Given the description of an element on the screen output the (x, y) to click on. 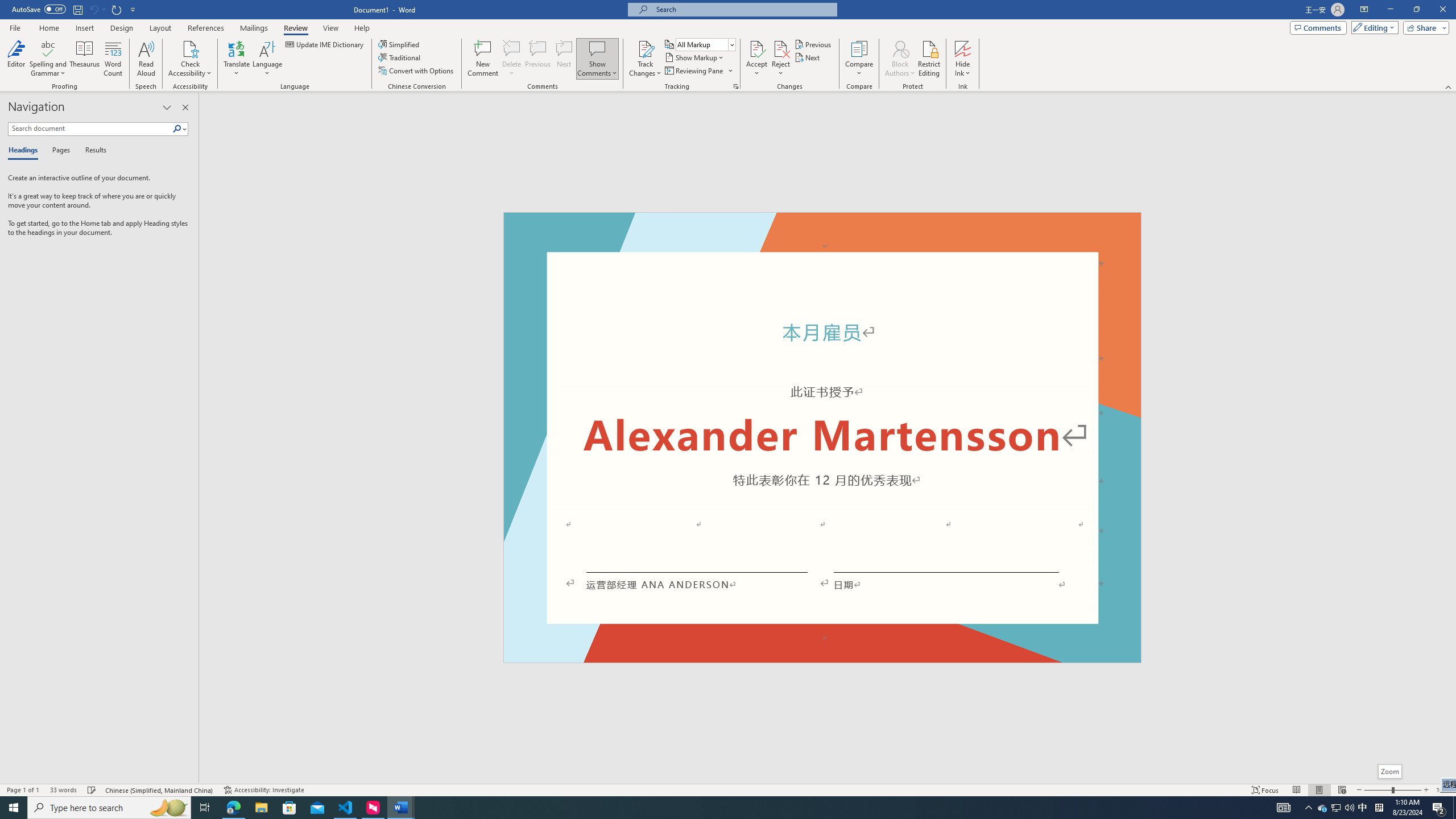
Restrict Editing (929, 58)
Reject (780, 58)
Zoom 100% (1443, 790)
Show Comments (597, 48)
Show Comments (597, 58)
Can't Undo (96, 9)
Page 1 content (822, 445)
Accept (756, 58)
Display for Review (705, 44)
Thesaurus... (84, 58)
